Given the description of an element on the screen output the (x, y) to click on. 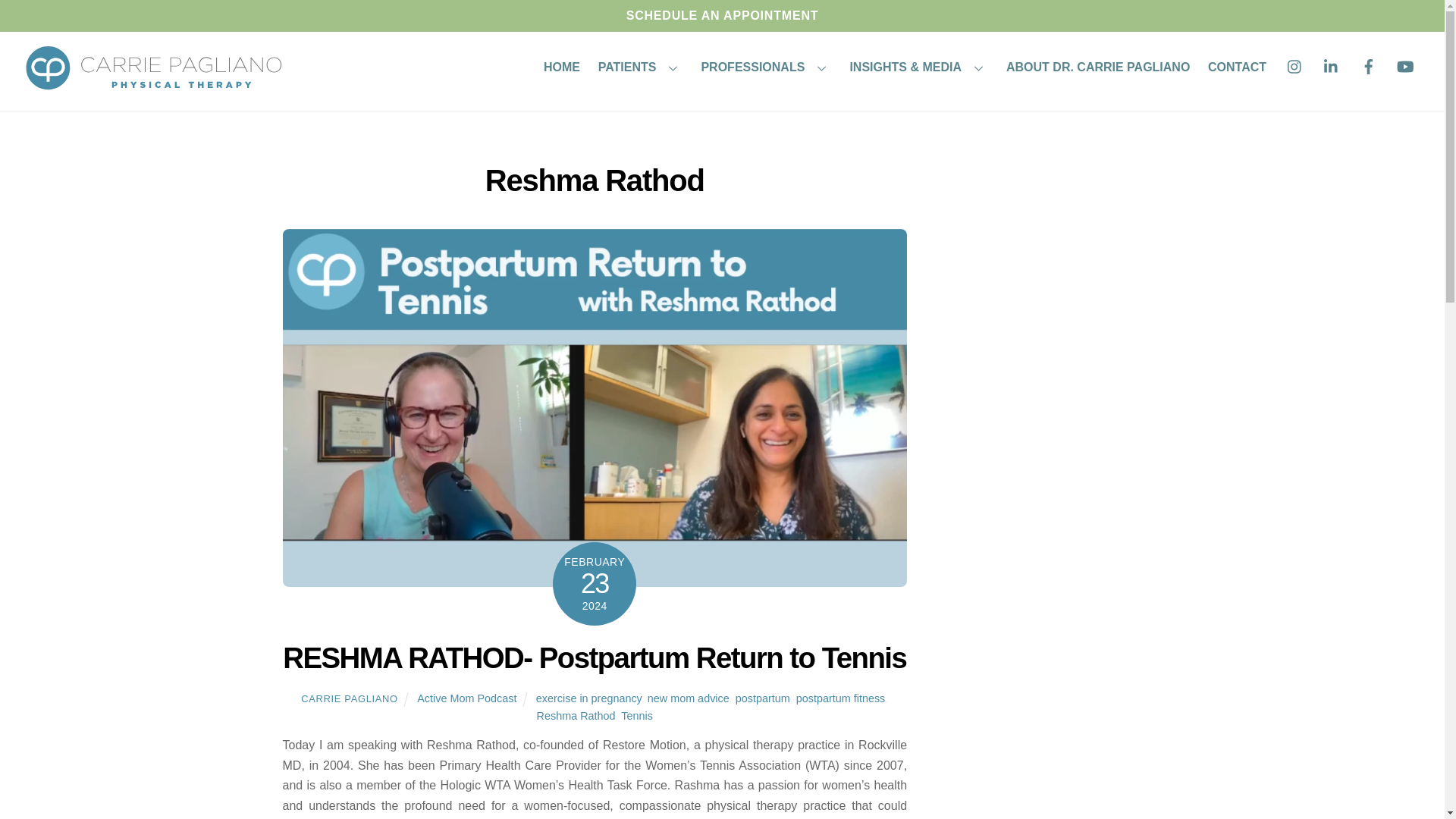
postpartum (762, 698)
HOME (560, 67)
Tennis (636, 715)
PATIENTS (640, 67)
postpartum fitness (840, 698)
new mom advice (688, 698)
exercise in pregnancy (588, 698)
Active Mom Podcast (466, 698)
PROFESSIONALS (767, 67)
CONTACT (1235, 67)
Carrie Pagliano (153, 89)
Reshma Rathod (576, 715)
RESHMA RATHOD- Postpartum Return to Tennis (593, 657)
CARRIE PAGLIANO (349, 698)
